Given the description of an element on the screen output the (x, y) to click on. 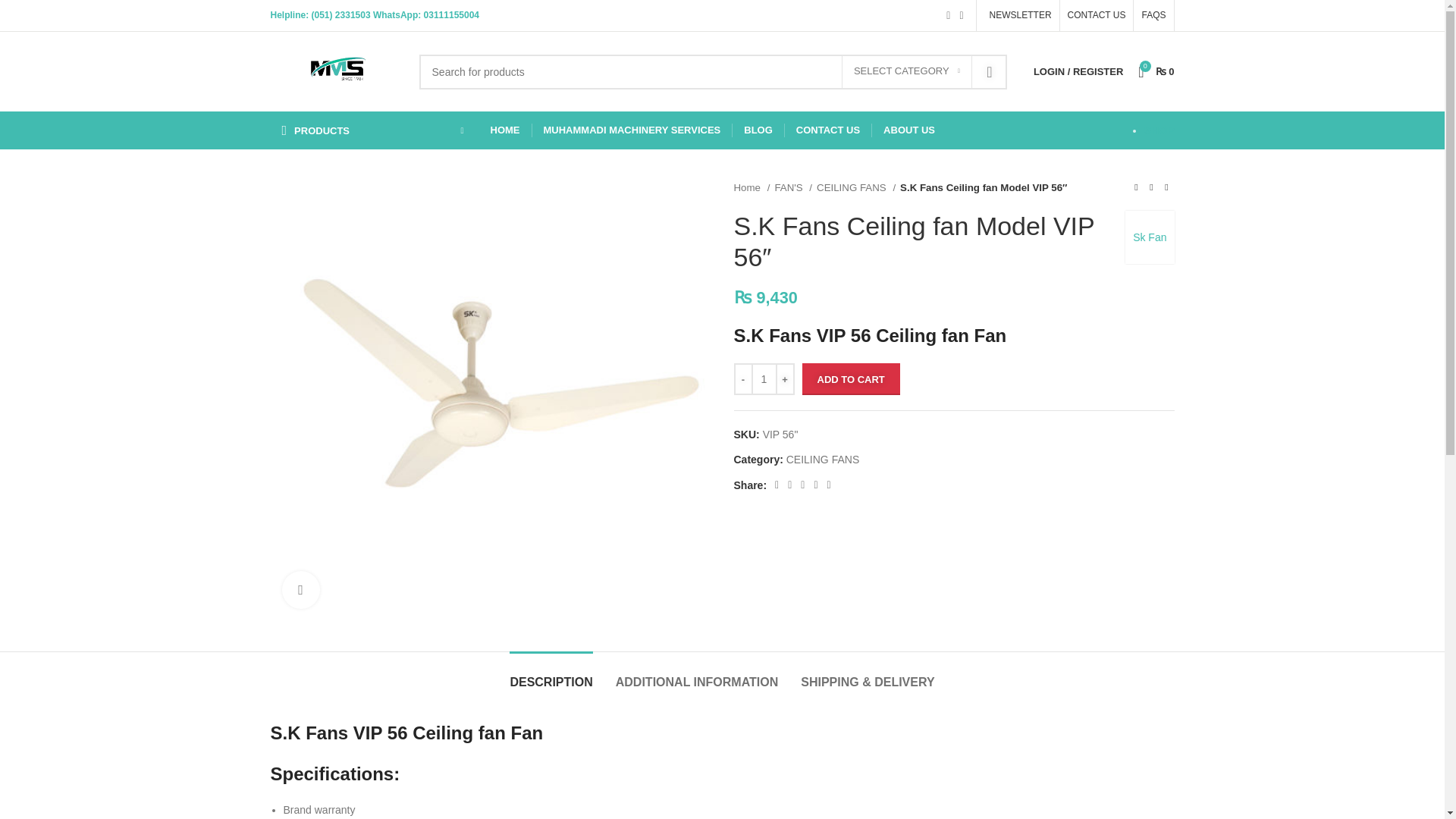
NEWSLETTER (1017, 15)
SELECT CATEGORY (906, 71)
SELECT CATEGORY (906, 71)
Search for products (713, 71)
My account (1078, 71)
CONTACT US (1096, 15)
03111155004 (451, 14)
Shopping cart (1155, 71)
